Given the description of an element on the screen output the (x, y) to click on. 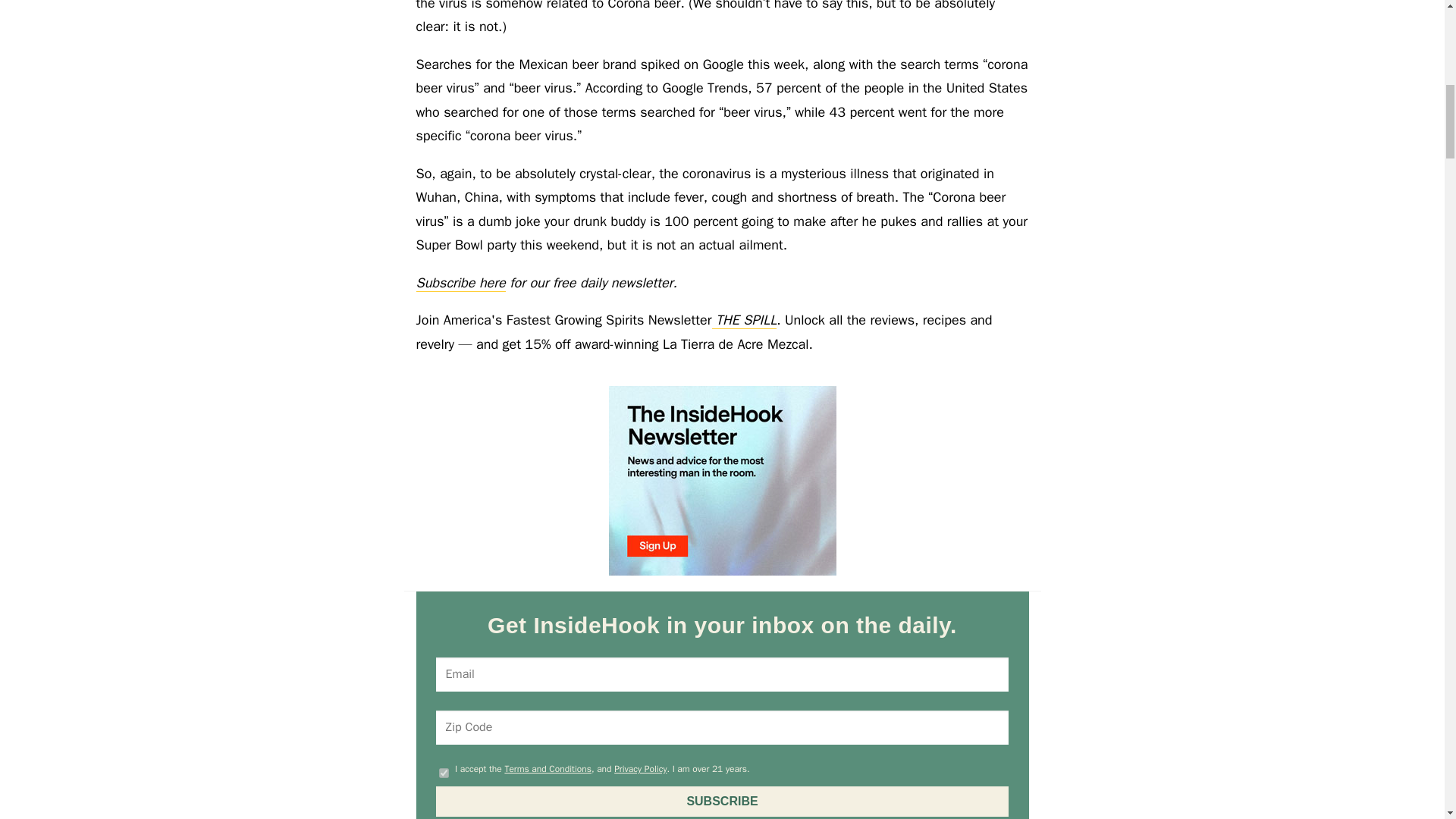
3rd party ad content (721, 480)
Privacy Policy (640, 768)
on (443, 773)
THE SPILL (744, 320)
Terms and Conditions (547, 768)
Subscribe here (459, 282)
SUBSCRIBE (722, 801)
